Given the description of an element on the screen output the (x, y) to click on. 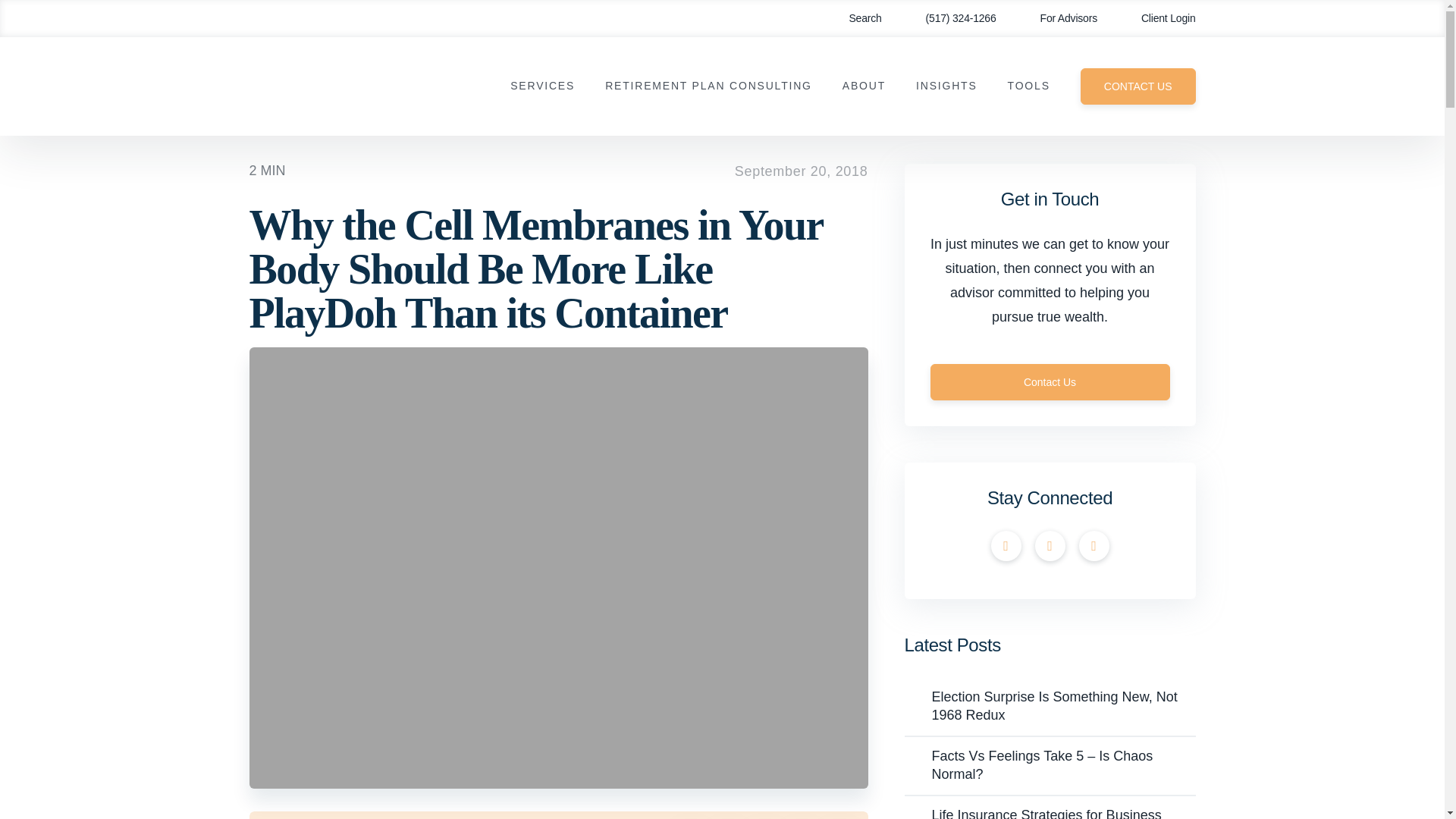
CONTACT US (1137, 85)
TOOLS (1028, 86)
For Advisors (1058, 18)
INSIGHTS (945, 86)
ABOUT (864, 86)
RETIREMENT PLAN CONSULTING (708, 86)
Search (853, 18)
Client Login (1157, 18)
SERVICES (543, 86)
